Given the description of an element on the screen output the (x, y) to click on. 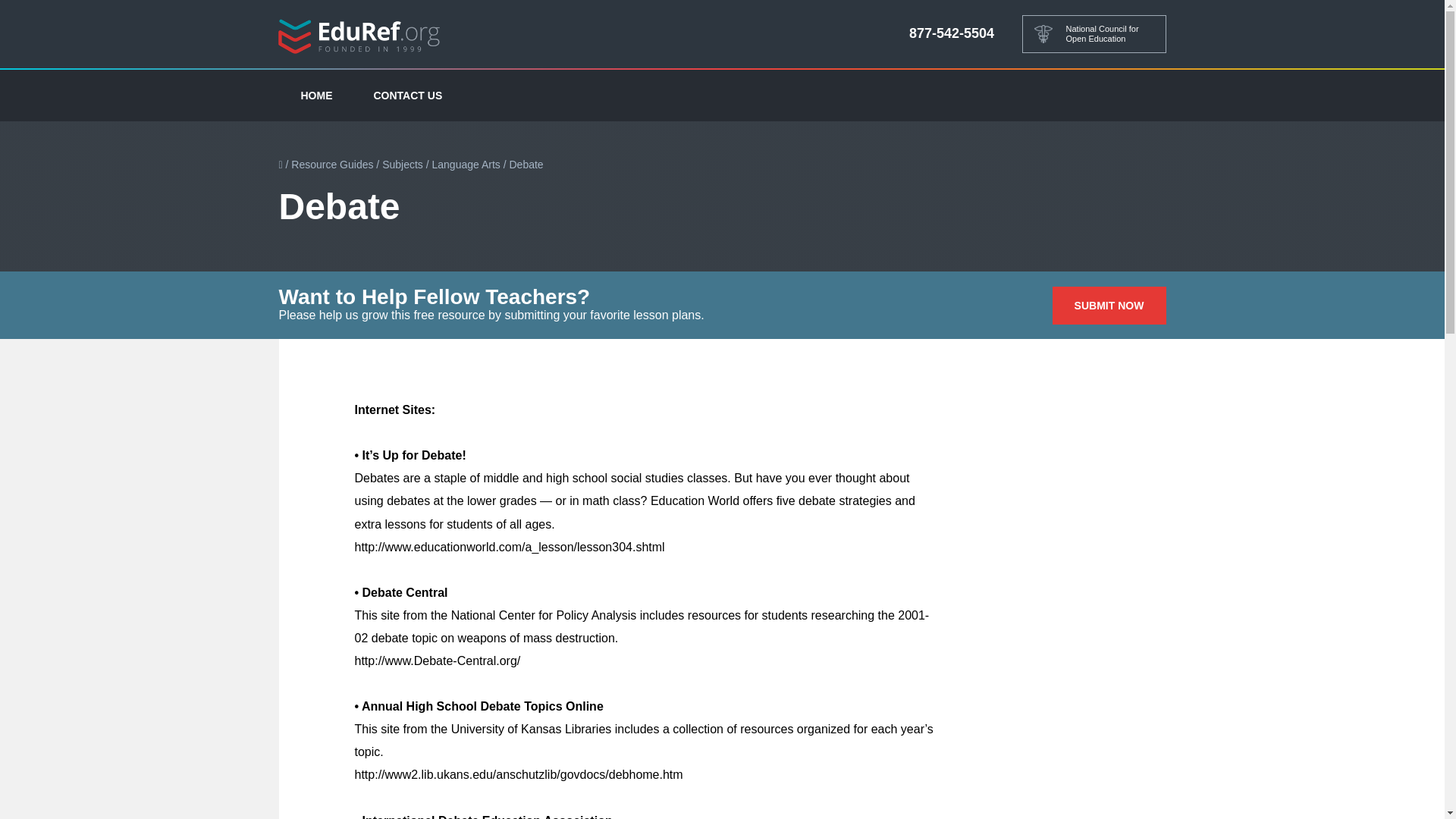
CONTACT US (408, 95)
HOME (317, 95)
Resource Guides (331, 164)
Language Arts (466, 164)
877-542-5504 (951, 33)
SUBMIT NOW (1109, 305)
Educator's Reference Desk (359, 34)
National Council for Open Education (1094, 34)
Debate (525, 164)
Subjects (402, 164)
